Given the description of an element on the screen output the (x, y) to click on. 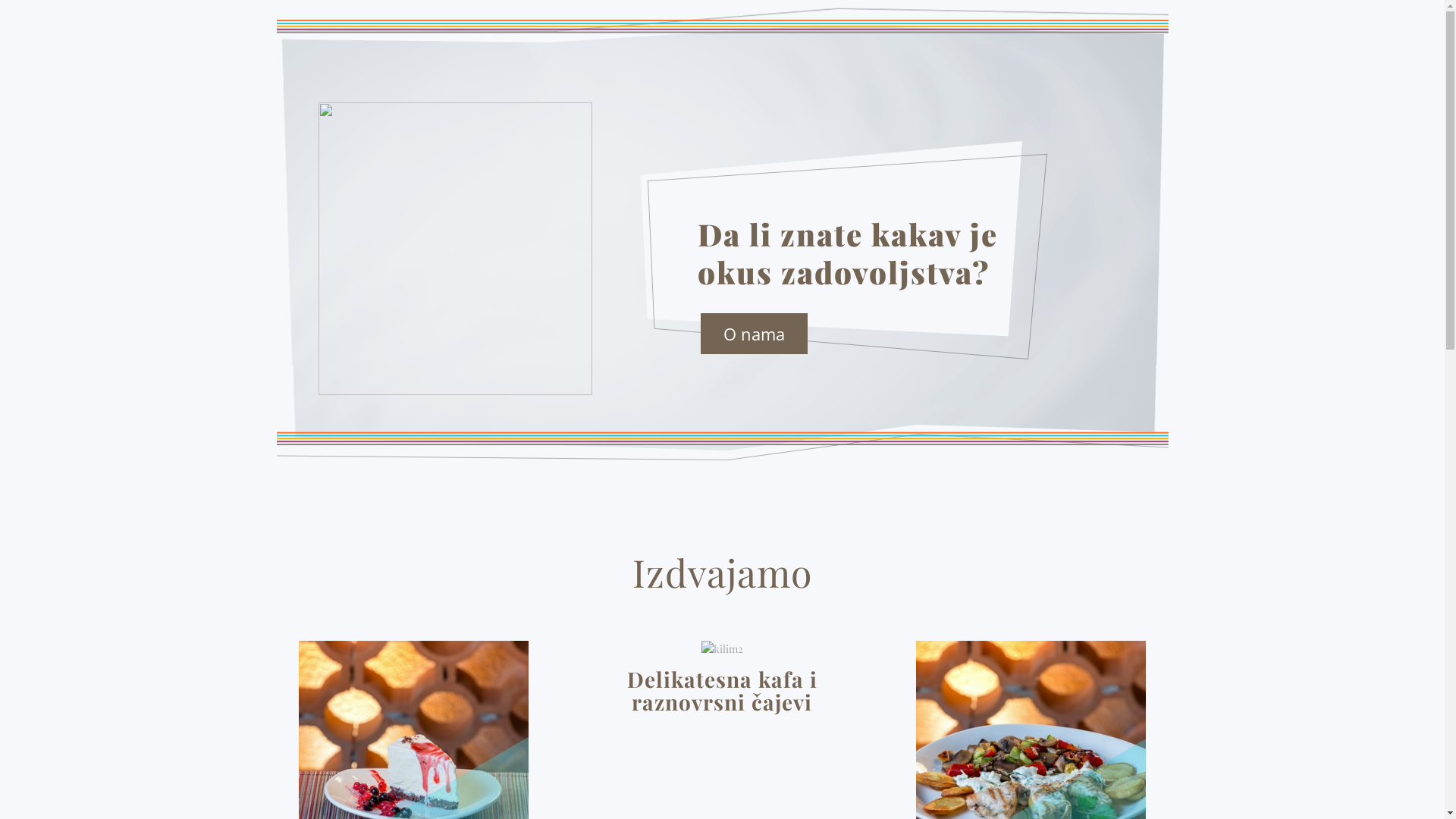
O nama Element type: text (753, 333)
